Given the description of an element on the screen output the (x, y) to click on. 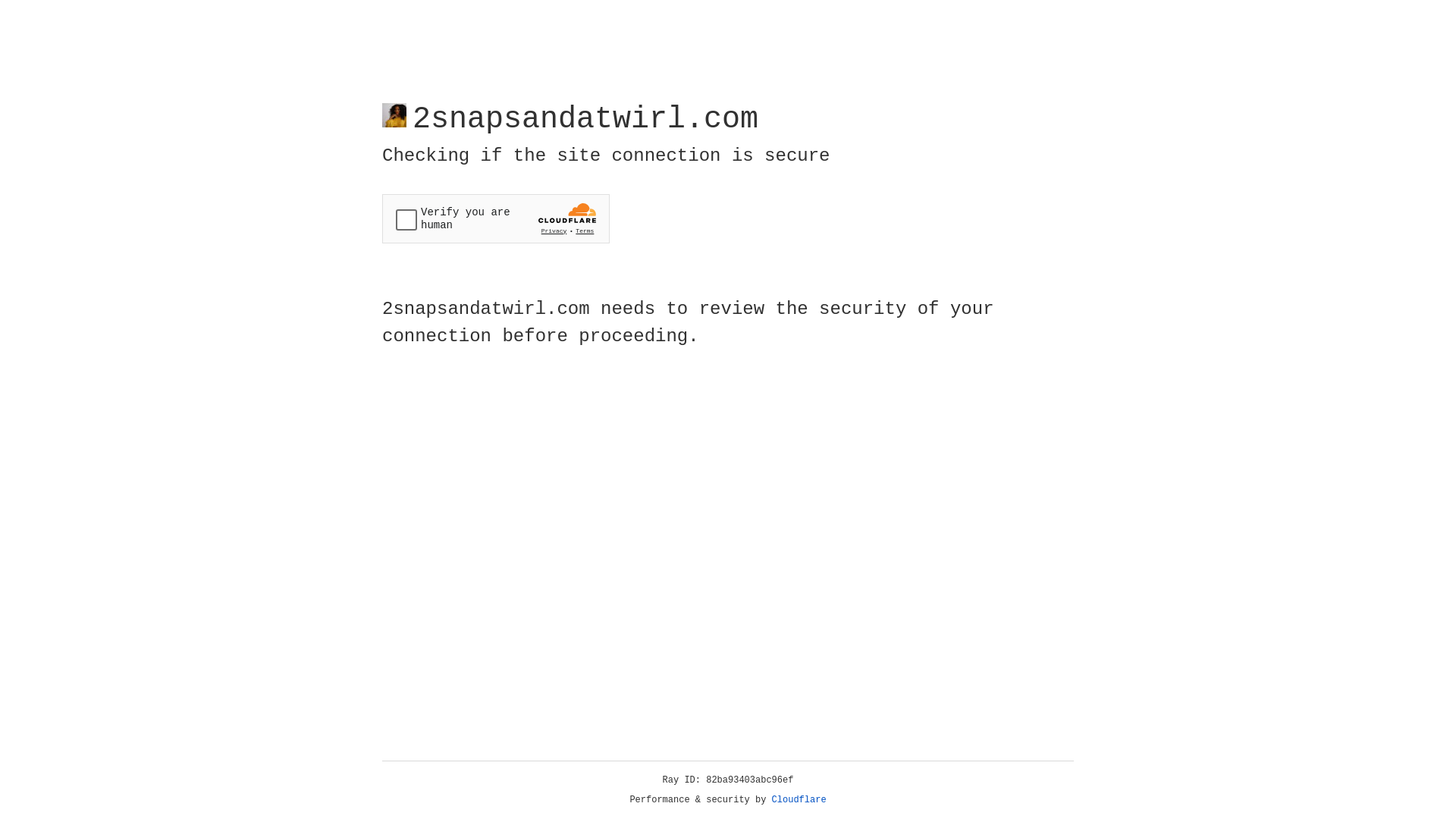
Widget containing a Cloudflare security challenge Element type: hover (495, 218)
Cloudflare Element type: text (798, 799)
